Given the description of an element on the screen output the (x, y) to click on. 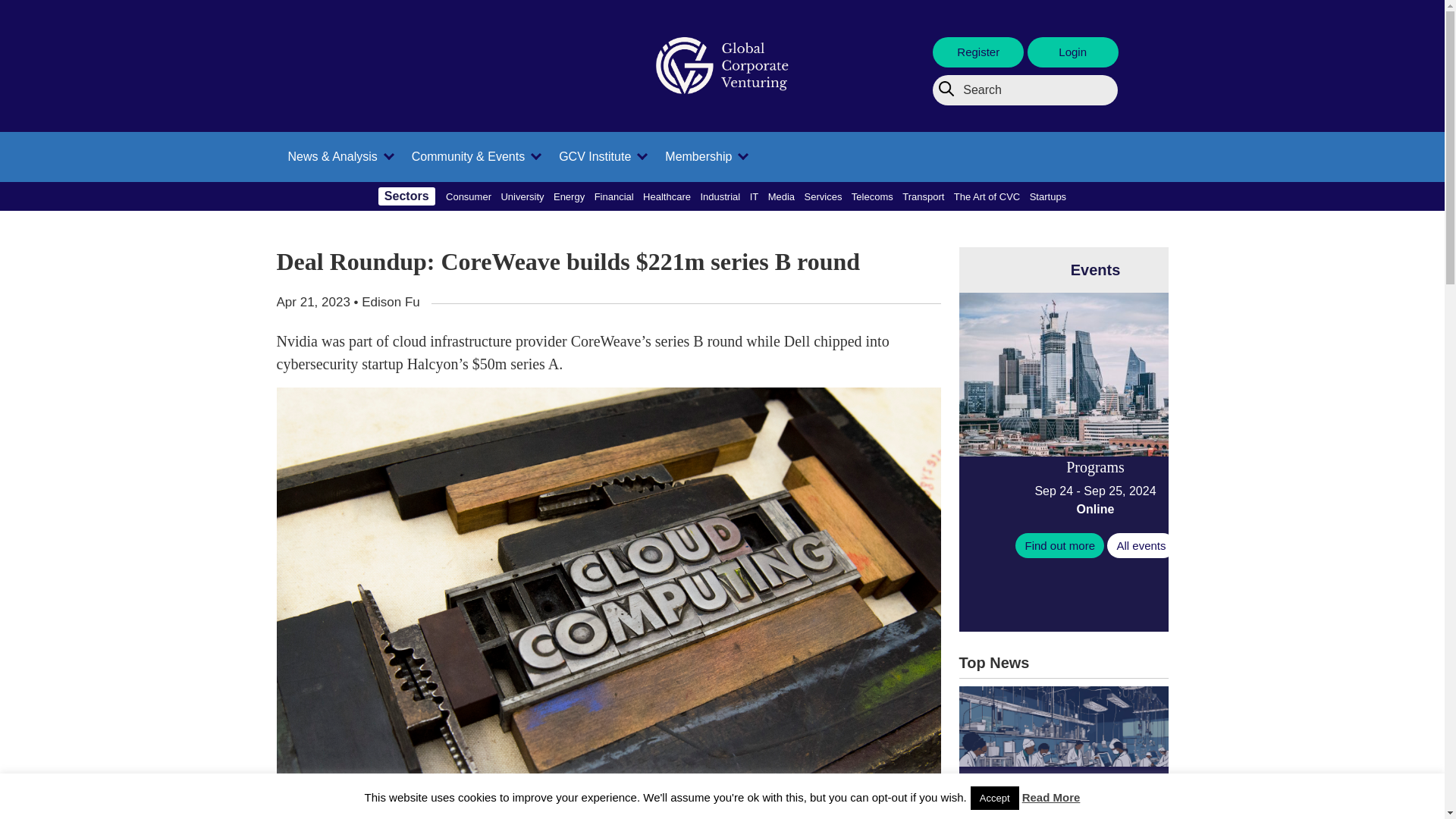
Register (979, 51)
Register (978, 51)
Login (1072, 51)
Login (1072, 51)
